Given the description of an element on the screen output the (x, y) to click on. 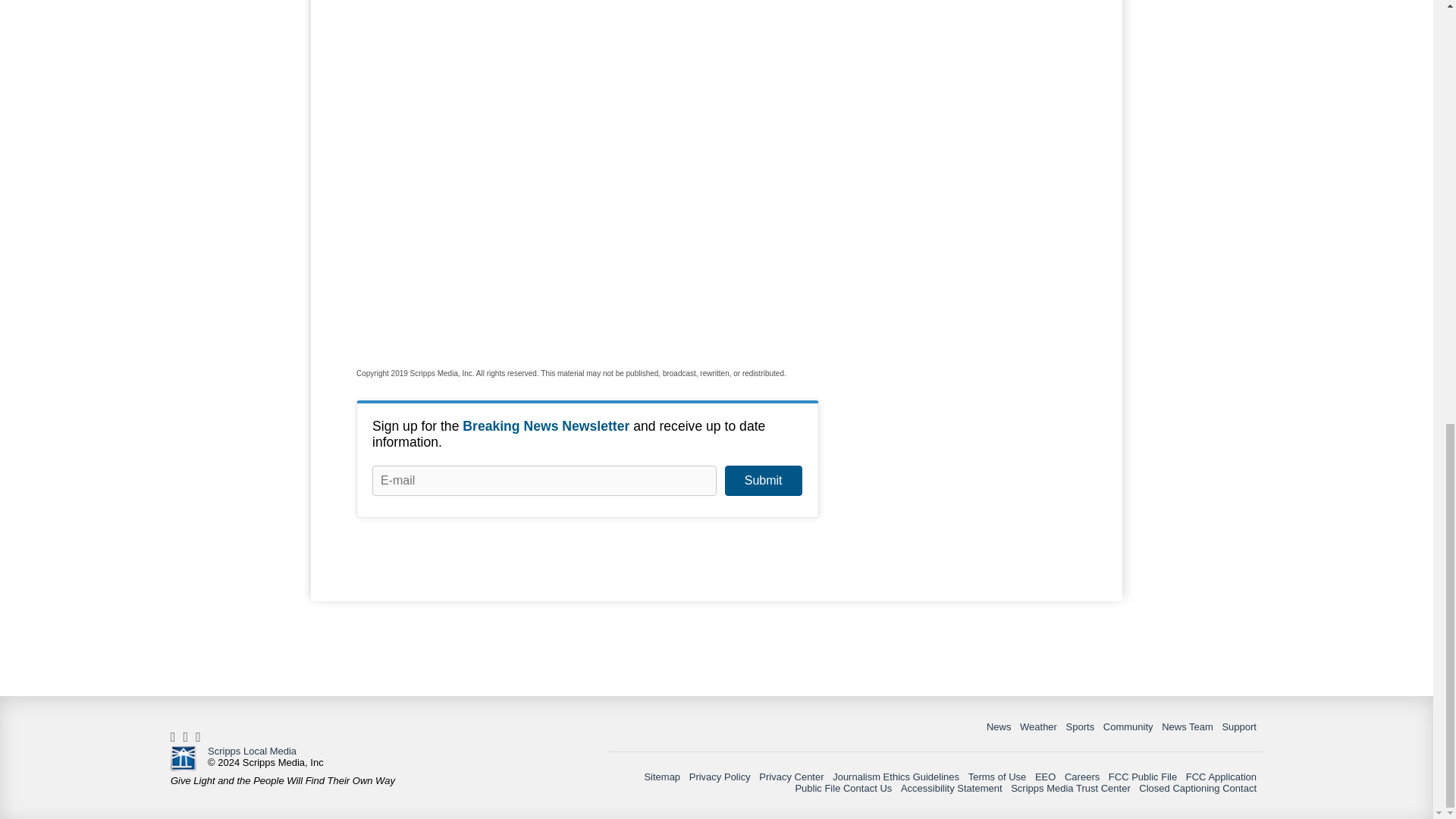
Submit (763, 481)
